Given the description of an element on the screen output the (x, y) to click on. 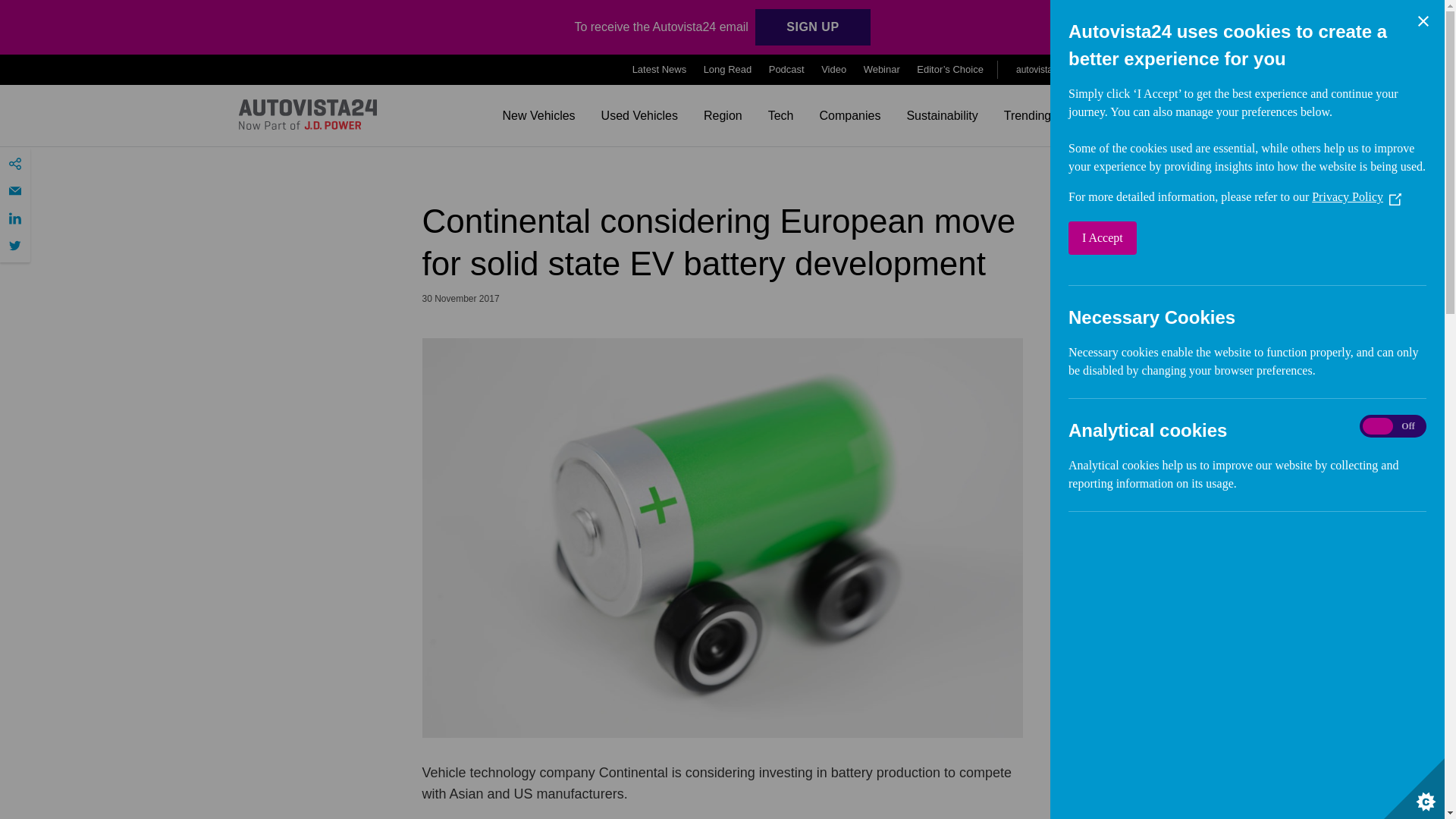
autovistagroup.com (1060, 69)
Products (1173, 69)
Long Read (727, 69)
I Accept (1372, 237)
Latest News (659, 69)
Podcast (786, 69)
Webinar (881, 69)
Video (833, 69)
SIGN UP (812, 27)
